Given the description of an element on the screen output the (x, y) to click on. 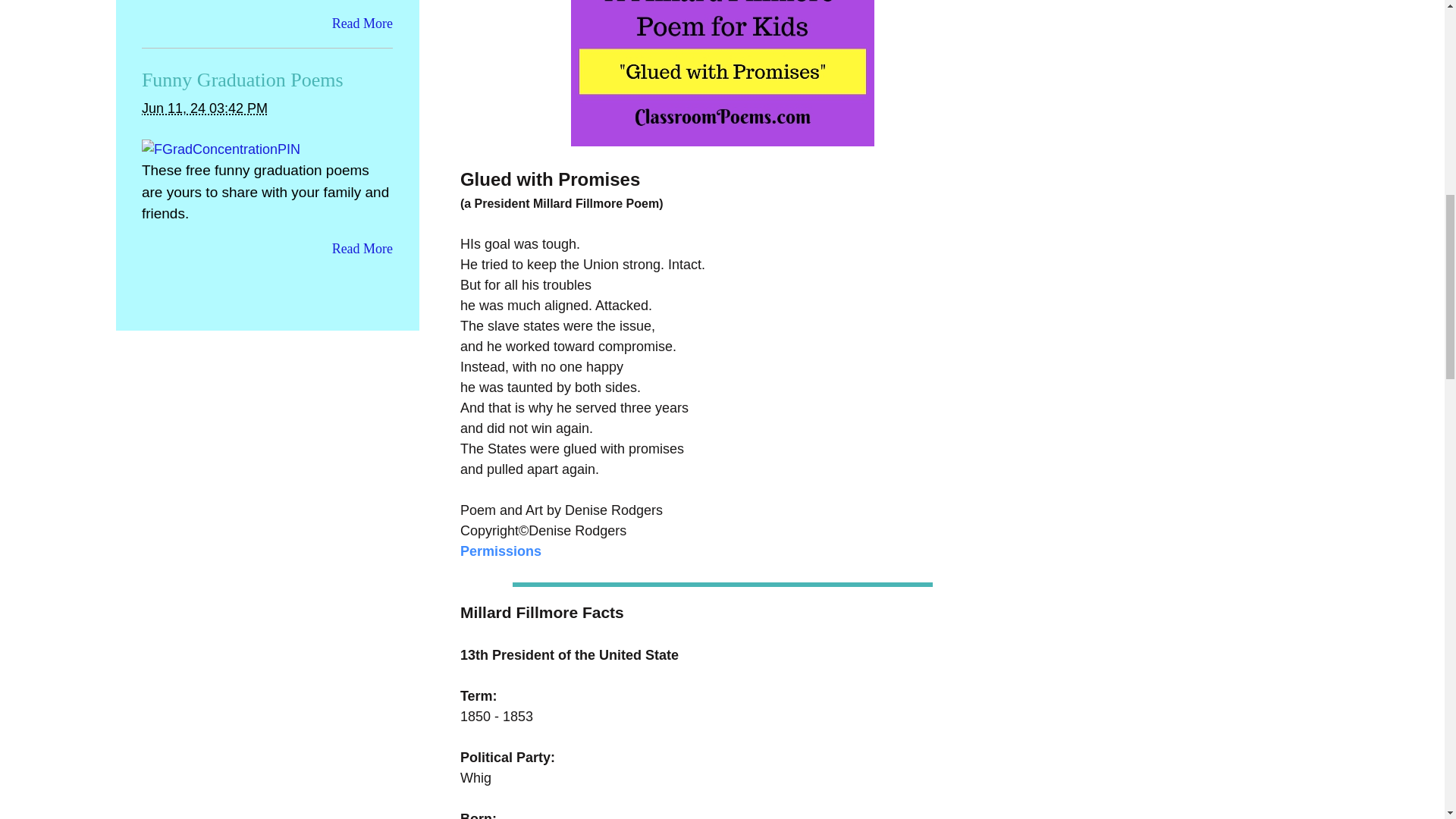
2024-06-11T15:42:26-0400 (204, 108)
